Given the description of an element on the screen output the (x, y) to click on. 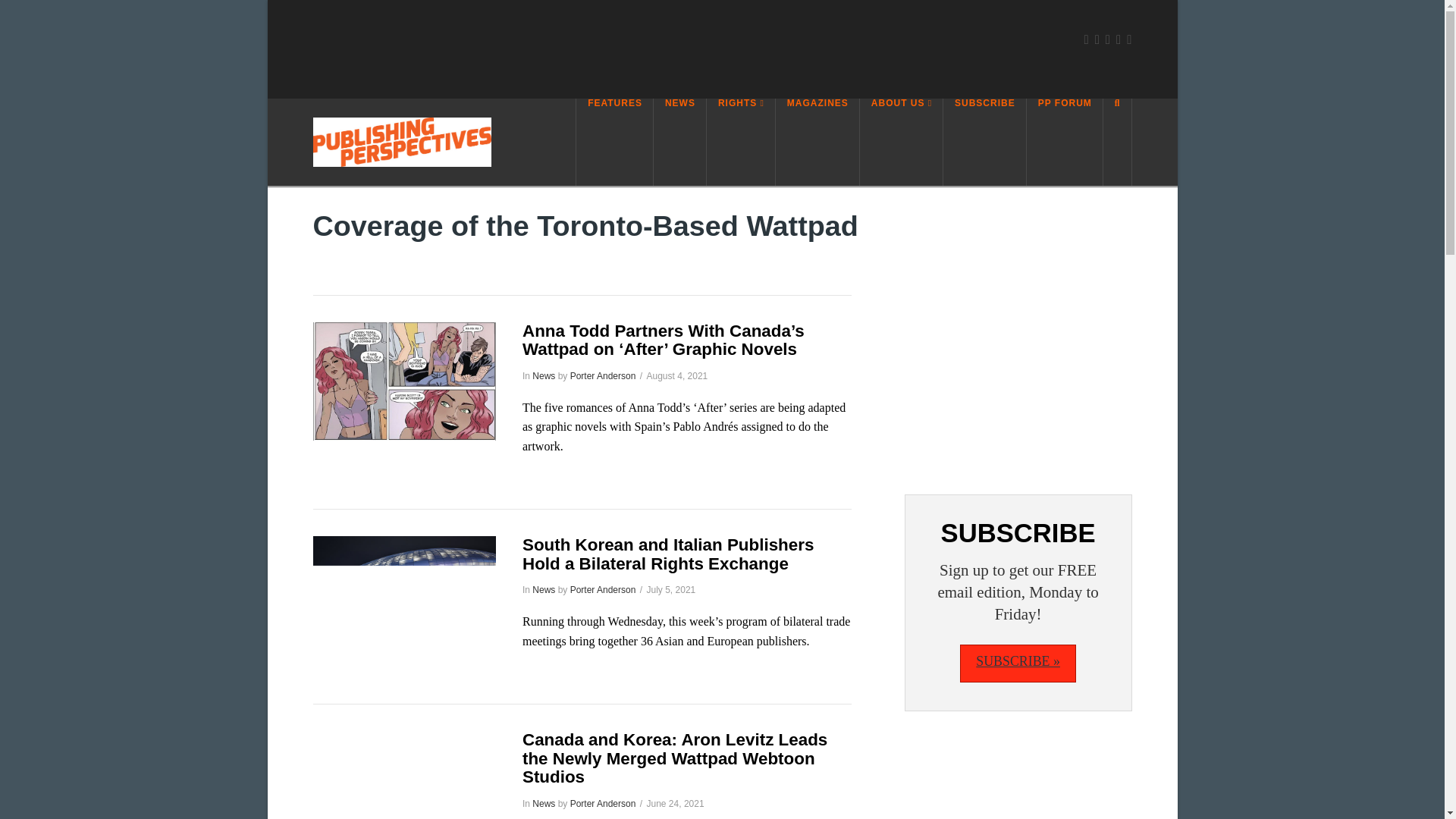
ABOUT US (901, 141)
News (543, 376)
Porter Anderson (603, 376)
News (543, 589)
Porter Anderson (603, 589)
News (543, 803)
SUBSCRIBE (984, 141)
